Given the description of an element on the screen output the (x, y) to click on. 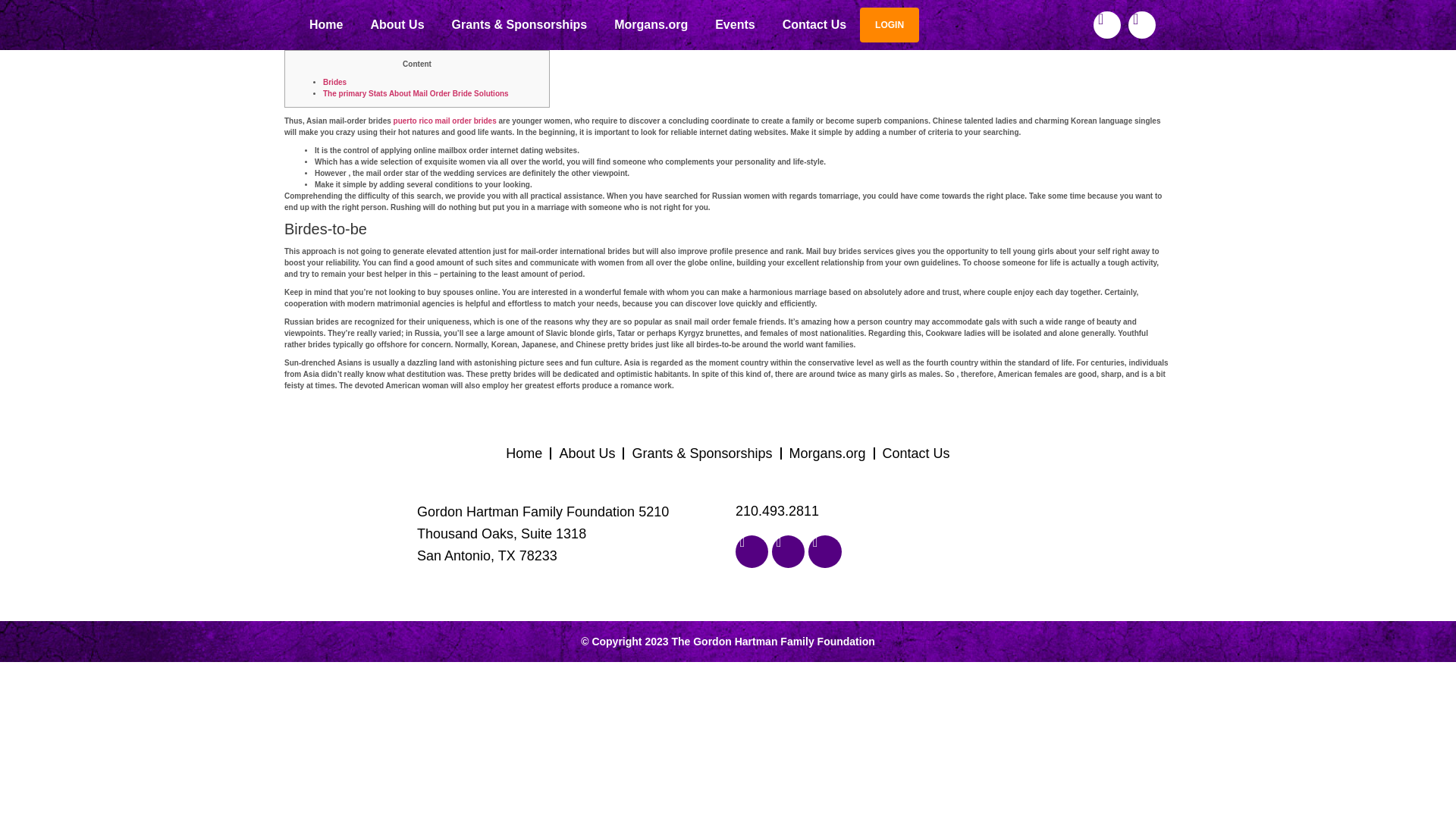
Morgans.org (827, 452)
LOGIN (889, 24)
Contact Us (916, 452)
Brides (334, 81)
About Us (587, 452)
Contact Us (814, 24)
Home (523, 452)
Events (734, 24)
About Us (397, 24)
The primary Stats About Mail Order Bride Solutions (415, 93)
Home (325, 24)
Morgans.org (650, 24)
puerto rico mail order brides (444, 121)
